Given the description of an element on the screen output the (x, y) to click on. 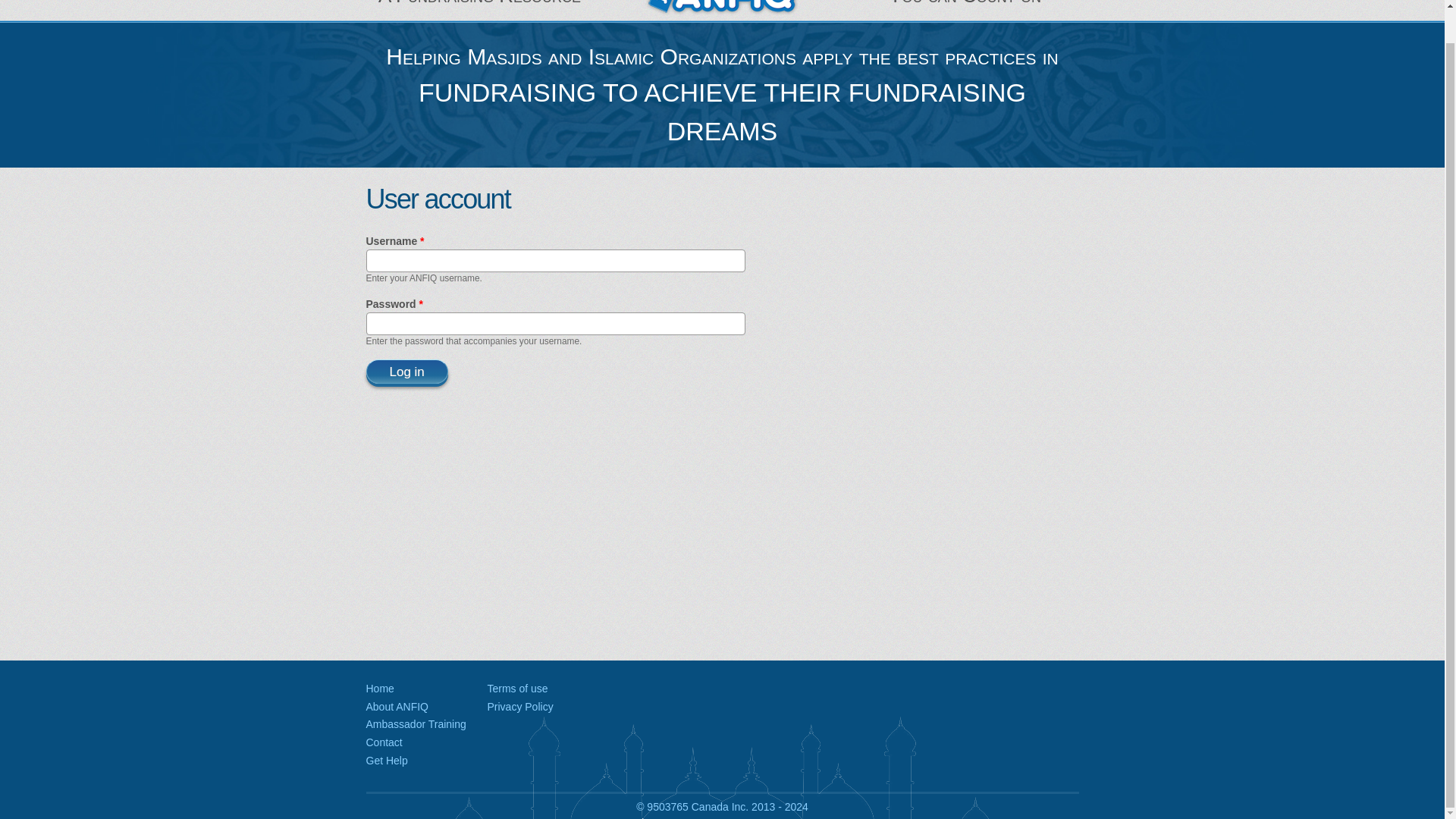
About ANFIQ (396, 706)
Get Help (386, 760)
Privacy Policy (519, 706)
Home (379, 688)
Terms of use (516, 688)
Contact (383, 742)
Log in (405, 371)
Log in (405, 371)
Ambassador Training (415, 724)
